Given the description of an element on the screen output the (x, y) to click on. 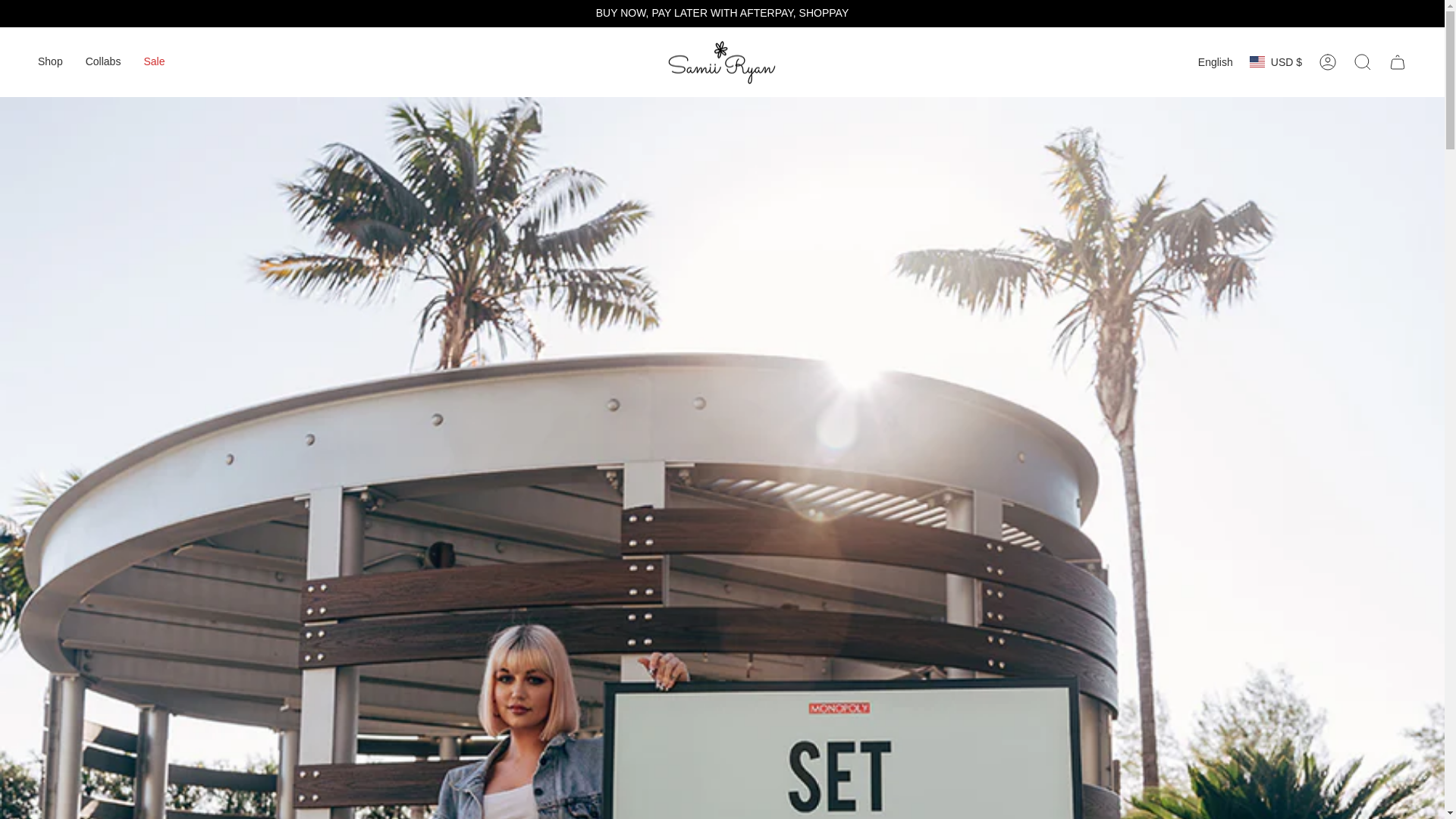
My Account (1327, 62)
Search (1362, 62)
Cart (1397, 62)
